Given the description of an element on the screen output the (x, y) to click on. 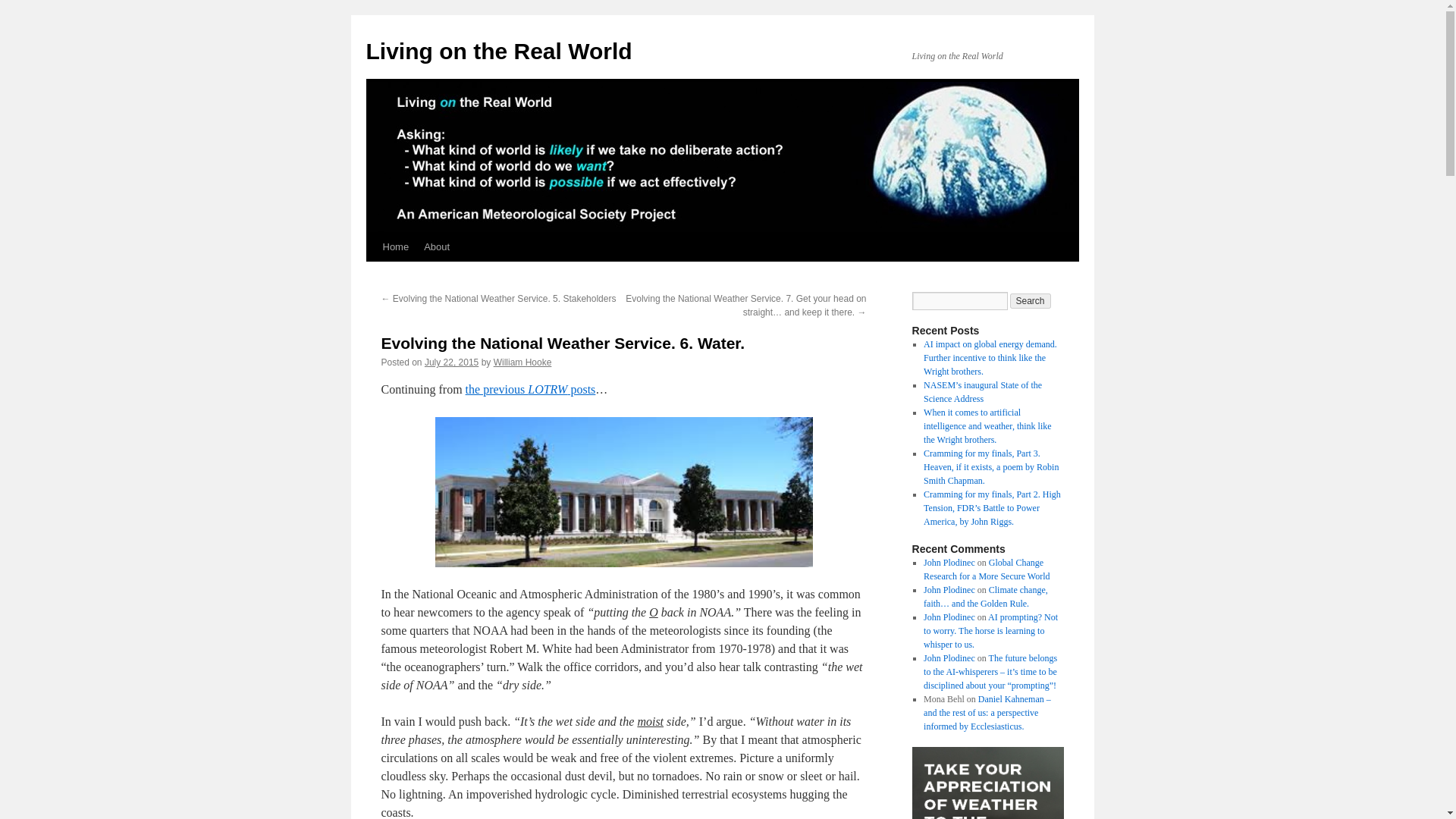
Global Change Research for a More Secure World (986, 569)
Search (1030, 300)
John Plodinec (949, 562)
July 22, 2015 (452, 362)
About (436, 246)
Living on the Real World (498, 50)
John Plodinec (949, 616)
4:40 am (452, 362)
Home (395, 246)
Search (1030, 300)
the previous LOTRW posts (530, 389)
View all posts by William Hooke (522, 362)
